Given the description of an element on the screen output the (x, y) to click on. 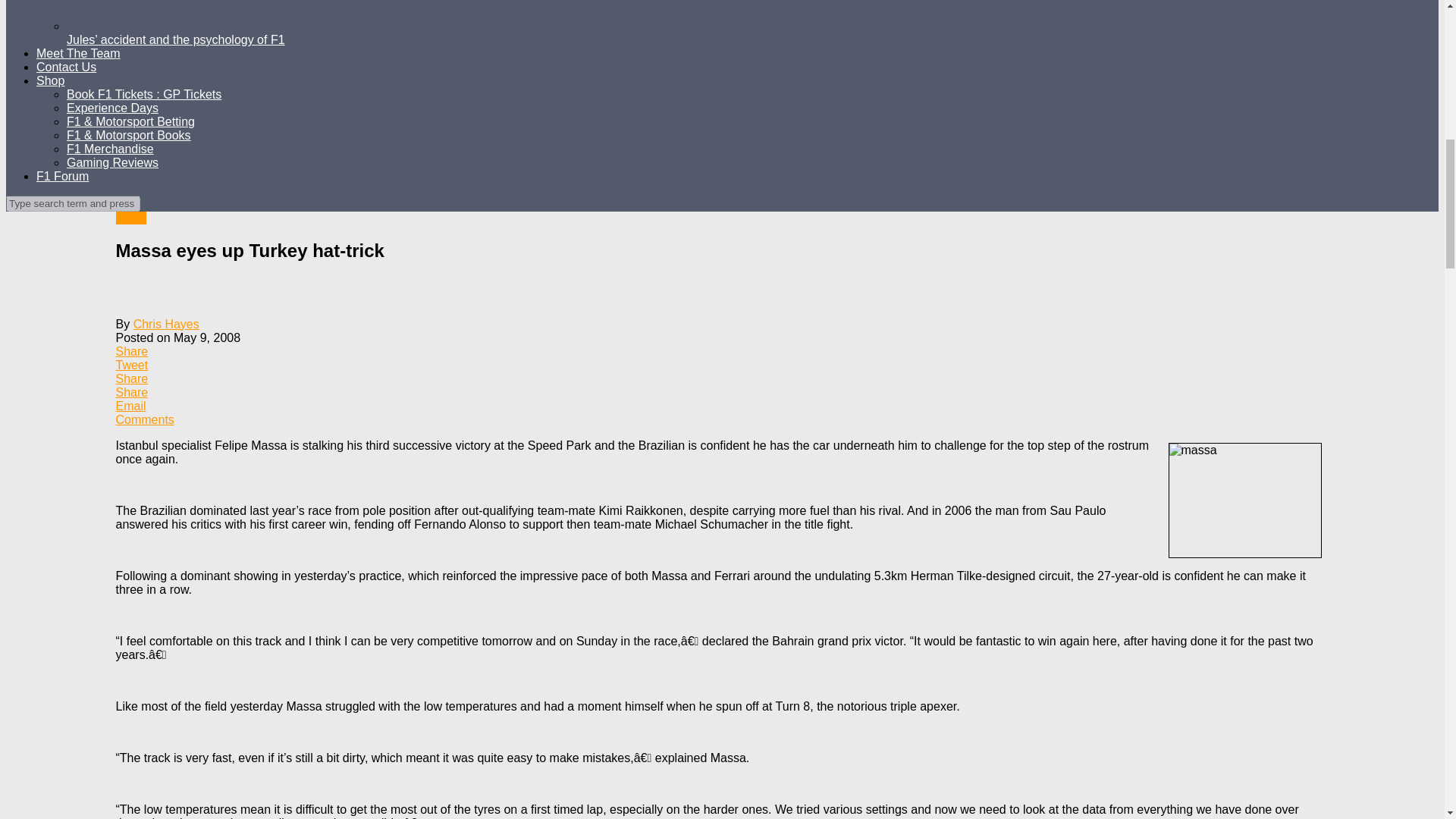
Shop (50, 80)
Experience Days (112, 107)
Contact Us (66, 66)
Tweet This Post (721, 365)
Posts by Chris Hayes (166, 323)
Gaming Reviews (112, 162)
Share on Facebook (721, 351)
F1 Merchandise (110, 148)
Pin This Post (721, 392)
F1 Forum (62, 175)
Meet The Team (78, 52)
Type search term and press enter (72, 203)
Book F1 Tickets : GP Tickets (143, 93)
